Given the description of an element on the screen output the (x, y) to click on. 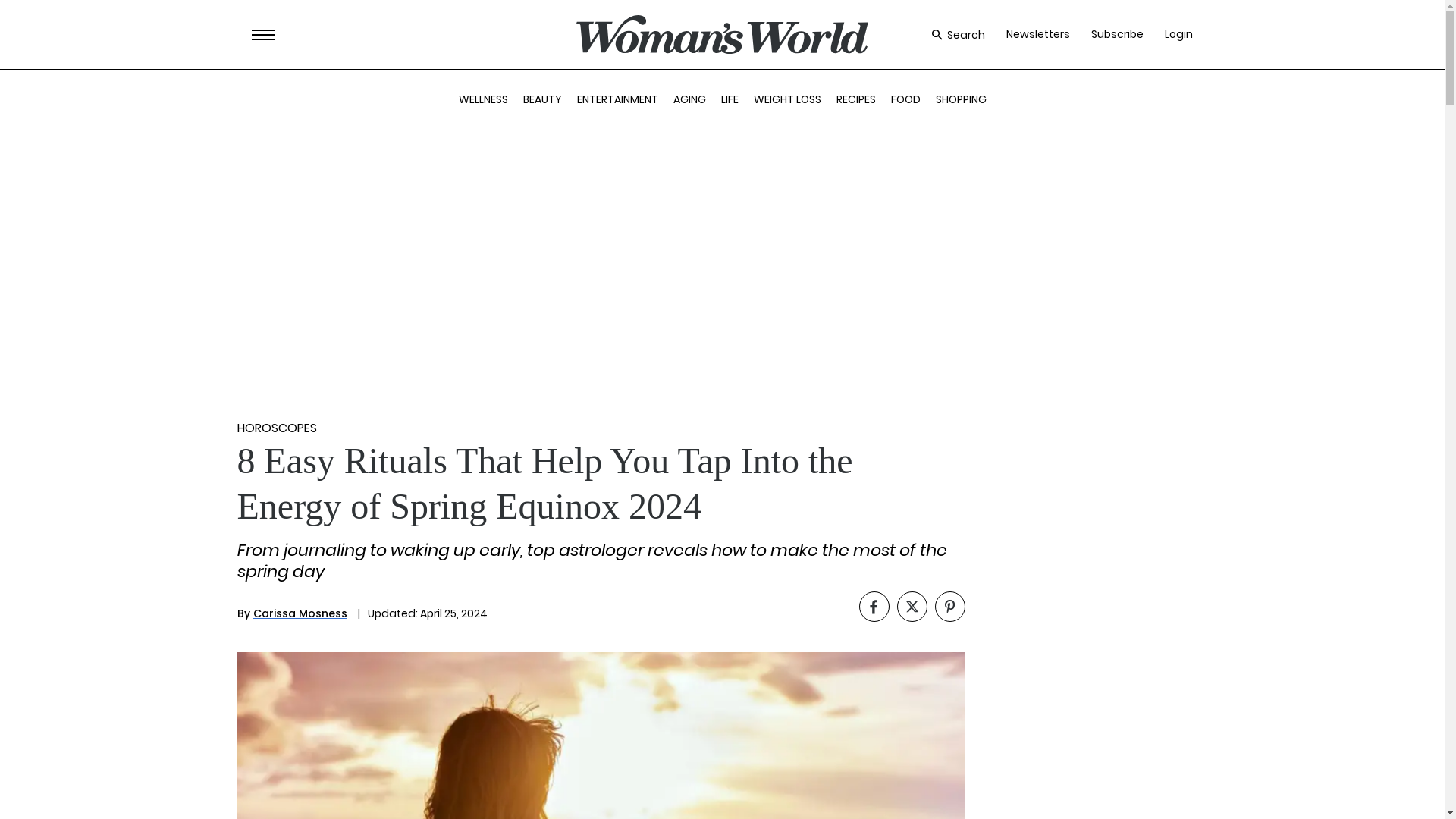
Click to share on Facebook (873, 606)
Newsletters (1038, 33)
Subscribe (1116, 33)
Click to share on Pinterest (948, 606)
Click to share on Twitter (911, 606)
MENU (263, 34)
